Given the description of an element on the screen output the (x, y) to click on. 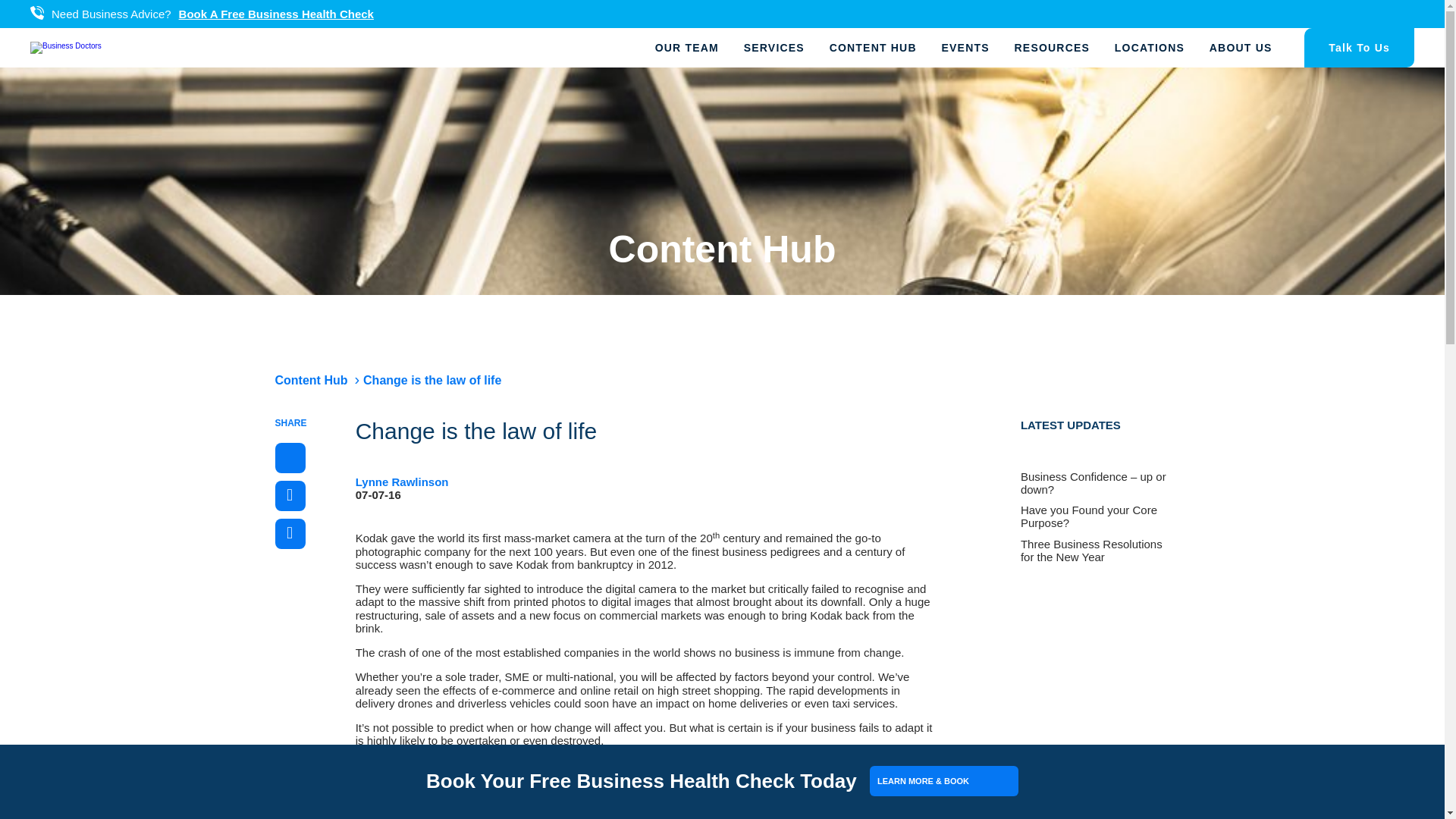
CONTENT HUB (873, 47)
Share on LinkedIn (289, 533)
ABOUT US (1241, 47)
Tweet this! (289, 495)
Change is the law of life (431, 379)
RESOURCES (1051, 47)
Book A Free Business Health Check (276, 13)
LOCATIONS (1149, 47)
Have you Found your Core Purpose? (1095, 516)
Three Business Resolutions for the New Year (1095, 550)
EVENTS (965, 47)
Share on Facebook. (289, 458)
